Given the description of an element on the screen output the (x, y) to click on. 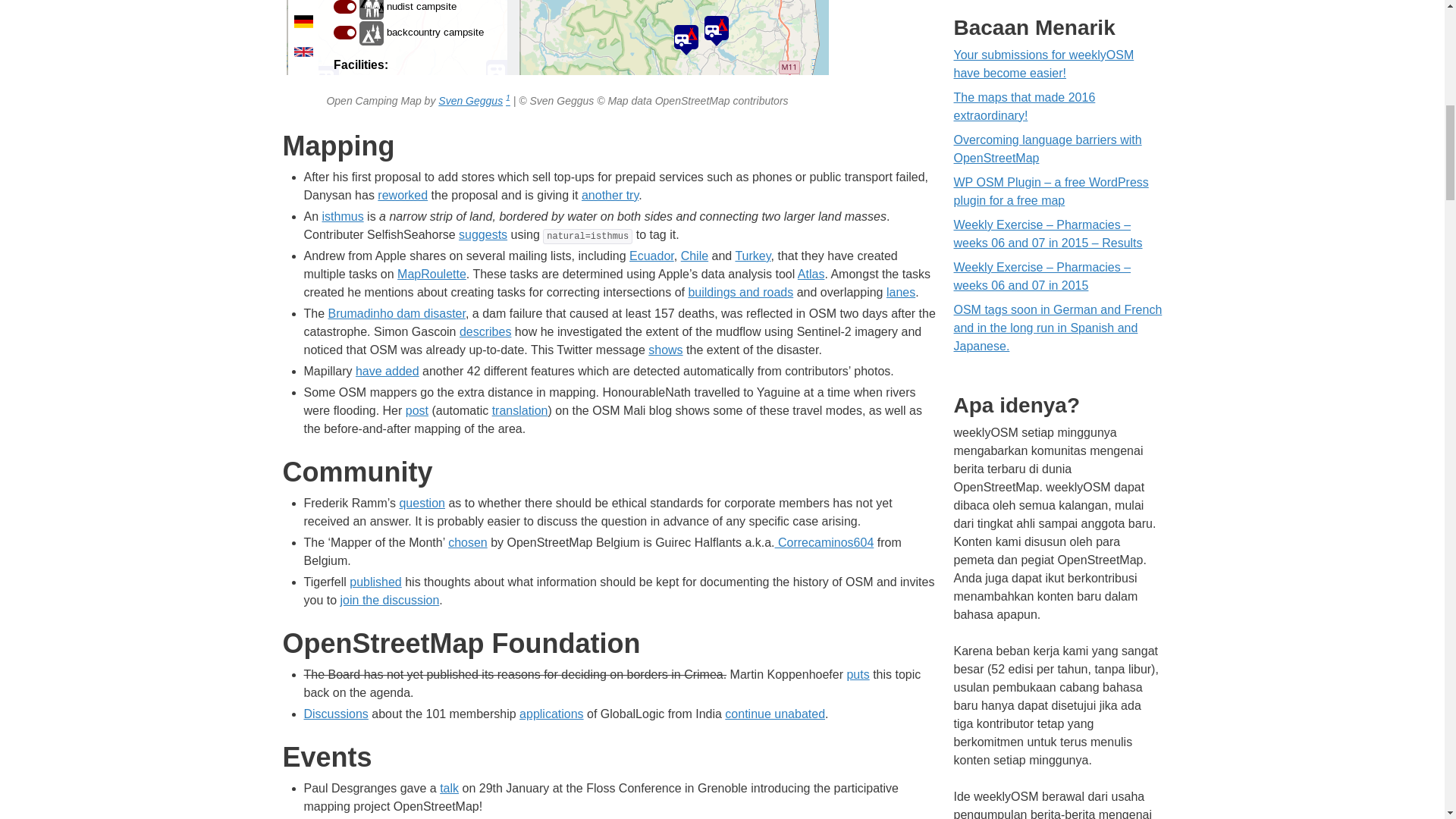
Ecuador (651, 255)
describes (485, 331)
buildings and roads (740, 291)
MapRoulette (431, 273)
suggests (482, 234)
lanes (900, 291)
isthmus (342, 215)
Atlas (811, 273)
Brumadinho dam disaster (397, 313)
reworked (402, 195)
another try (609, 195)
Chile (694, 255)
Turkey (752, 255)
Sven Geggus (470, 101)
